Given the description of an element on the screen output the (x, y) to click on. 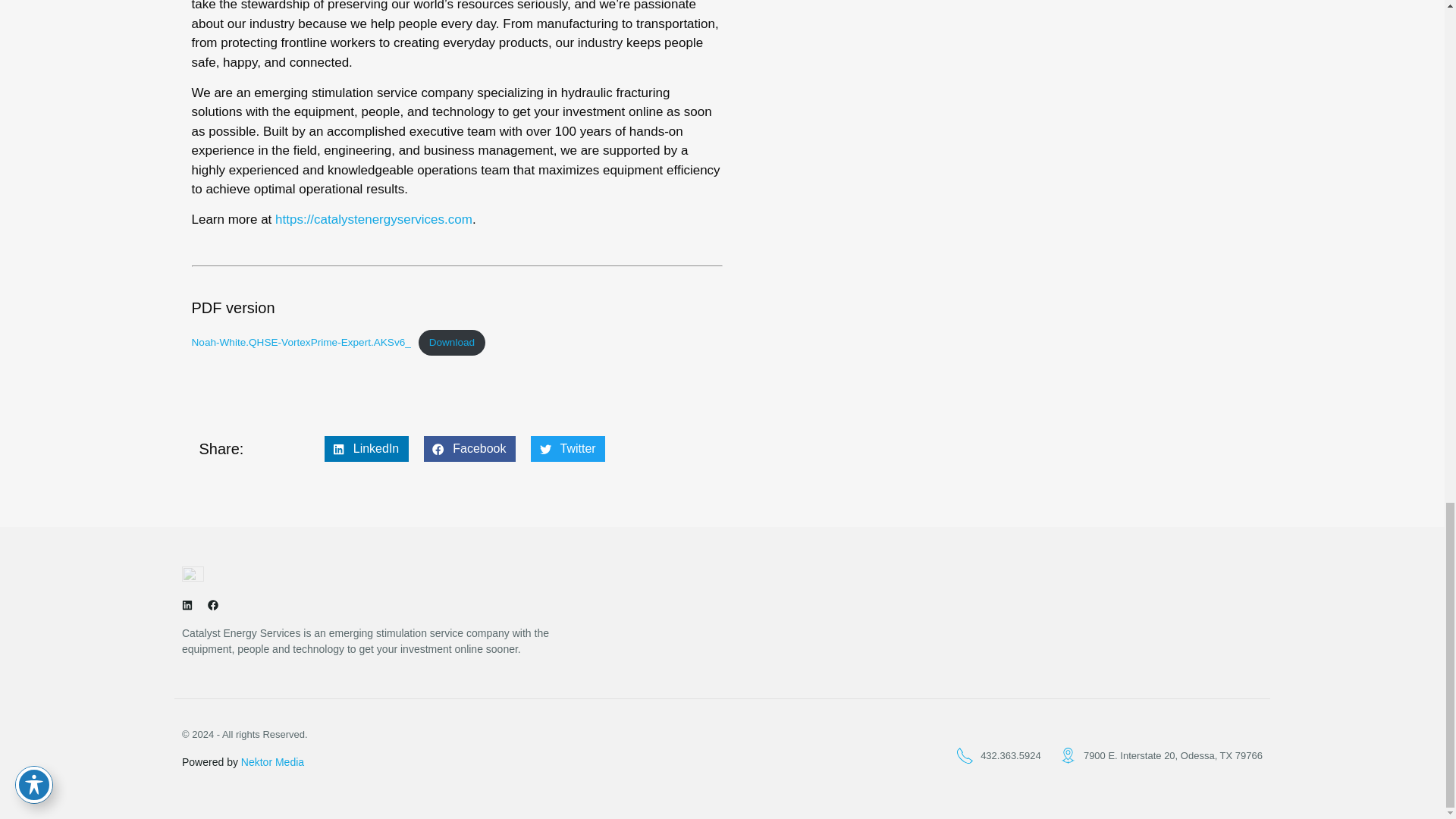
Download (451, 342)
